Given the description of an element on the screen output the (x, y) to click on. 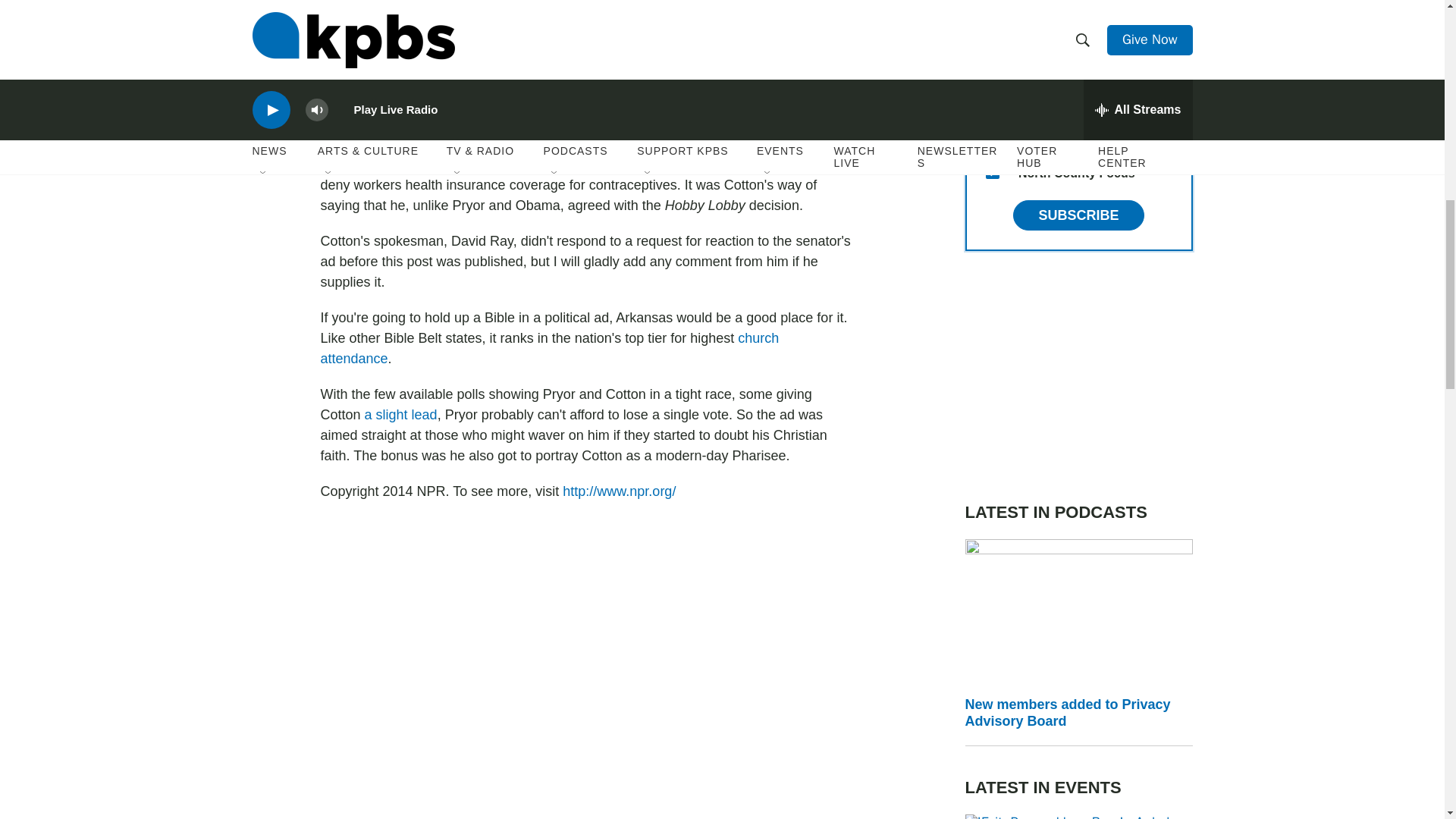
15 (991, 172)
1 (991, 99)
8 (991, 135)
6 (991, 26)
2 (991, 62)
